Given the description of an element on the screen output the (x, y) to click on. 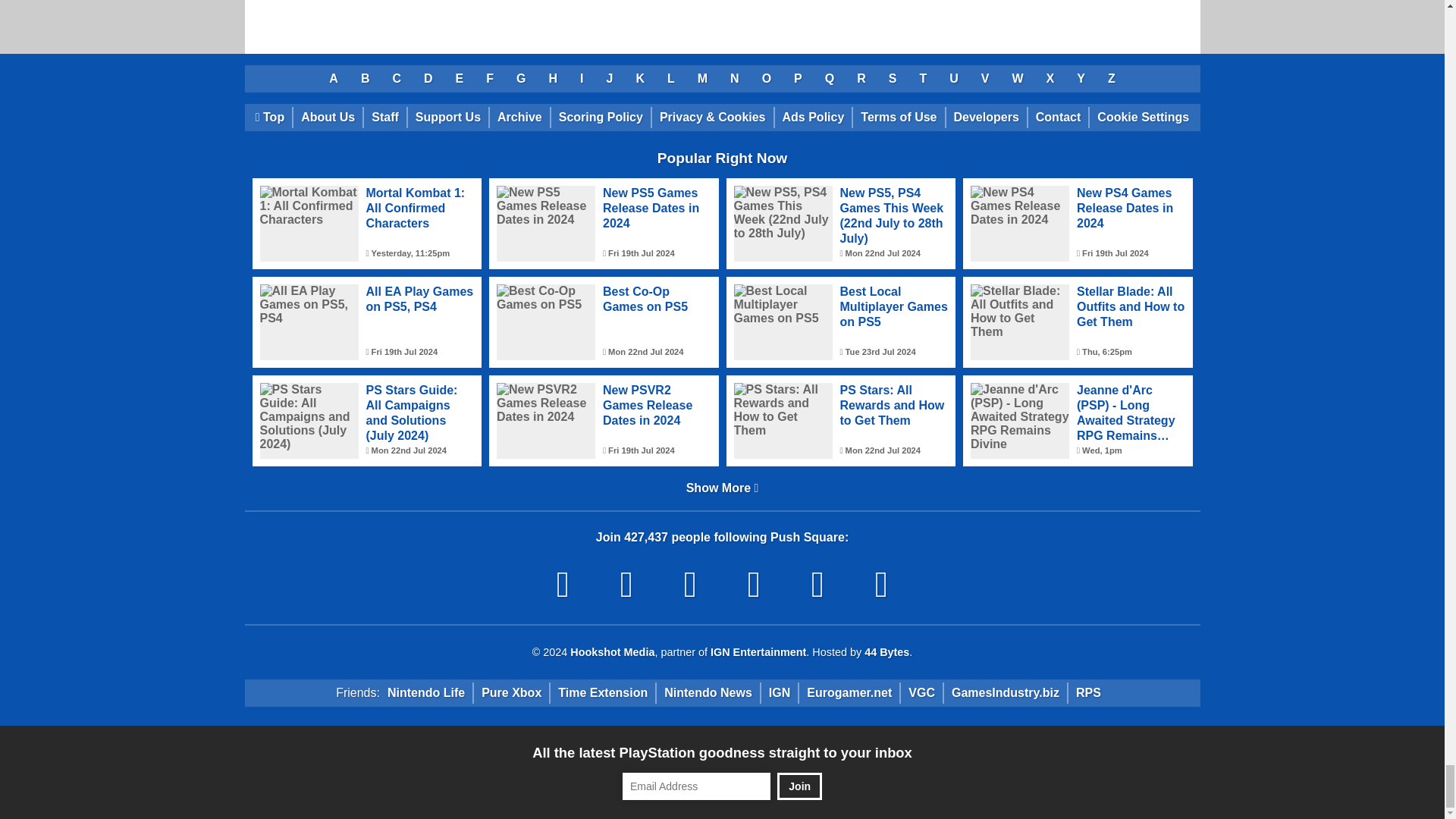
Join (799, 786)
